Given the description of an element on the screen output the (x, y) to click on. 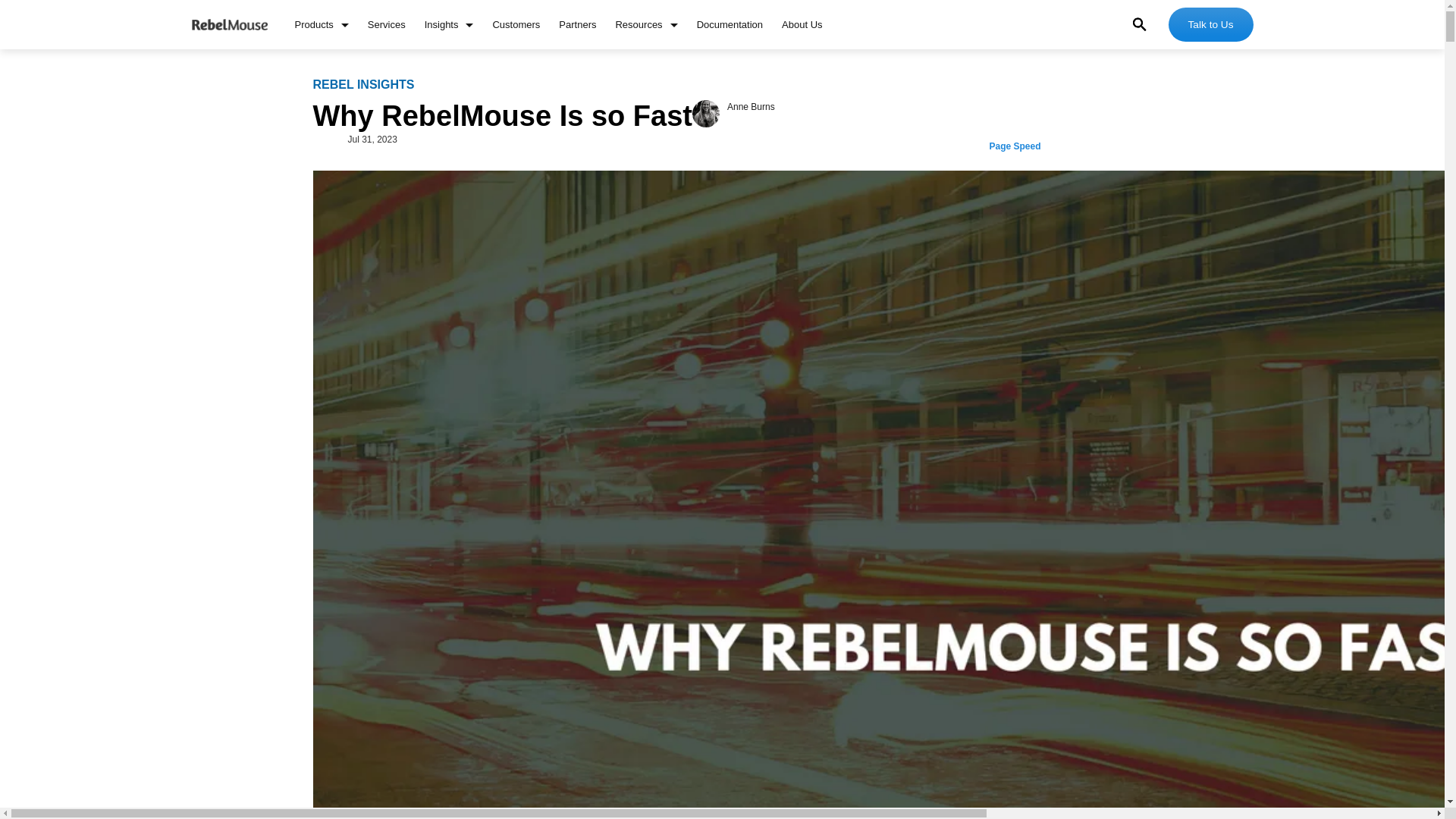
Talk to Us (1211, 24)
Partners (577, 23)
Talk to Us (1211, 24)
About Us (801, 23)
Insights (449, 23)
Documentation (729, 23)
Products (320, 23)
Customers (516, 23)
Resources (645, 23)
Services (387, 23)
